Given the description of an element on the screen output the (x, y) to click on. 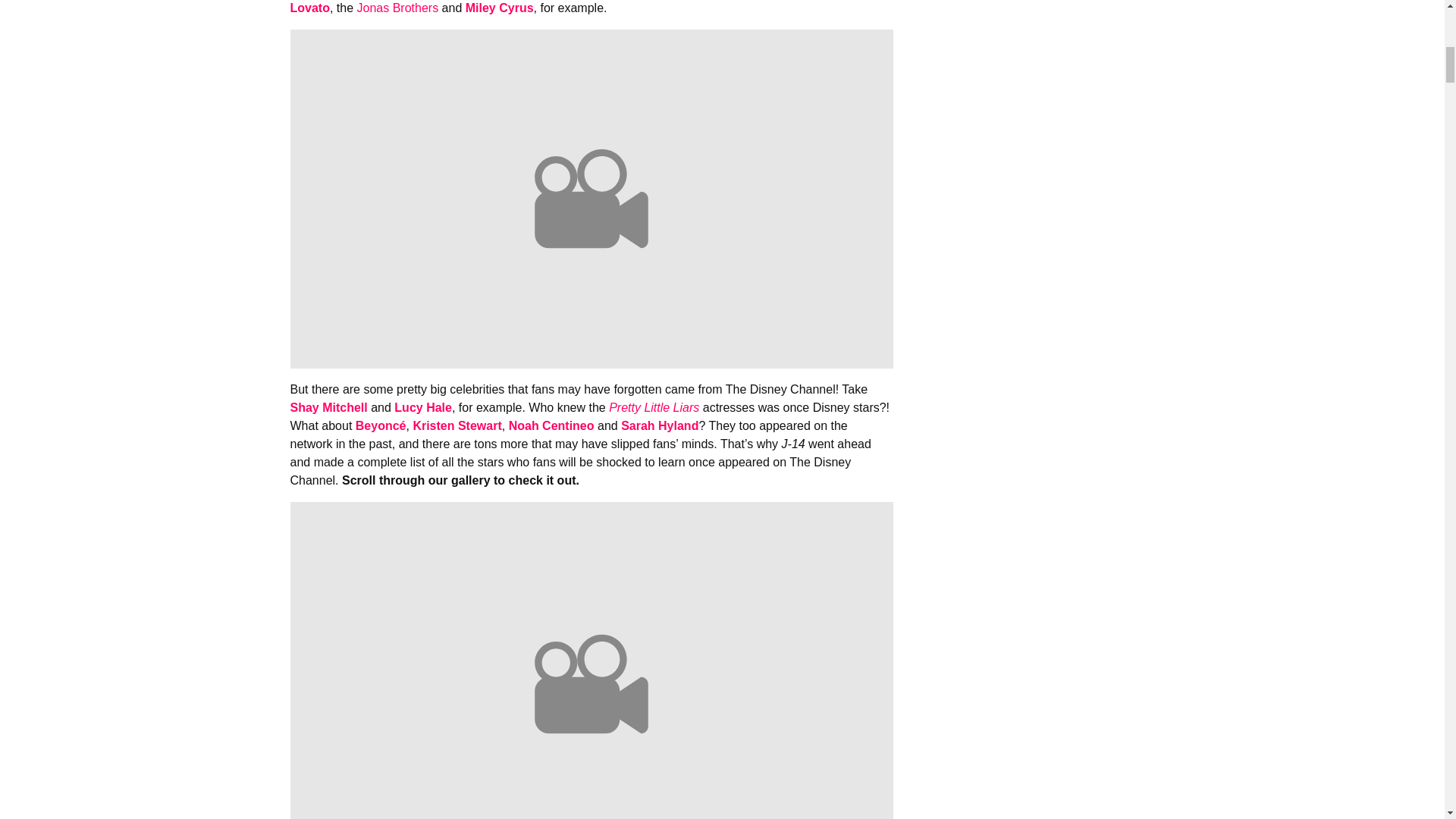
Demi Lovato (576, 7)
Lucy Hale (422, 407)
Sarah Hyland (659, 425)
Miley Cyrus (499, 7)
Kristen Stewart (456, 425)
Jonas Brothers (397, 7)
Shay Mitchell (330, 407)
Noah Centineo (549, 425)
Pretty Little Liars (653, 407)
